Given the description of an element on the screen output the (x, y) to click on. 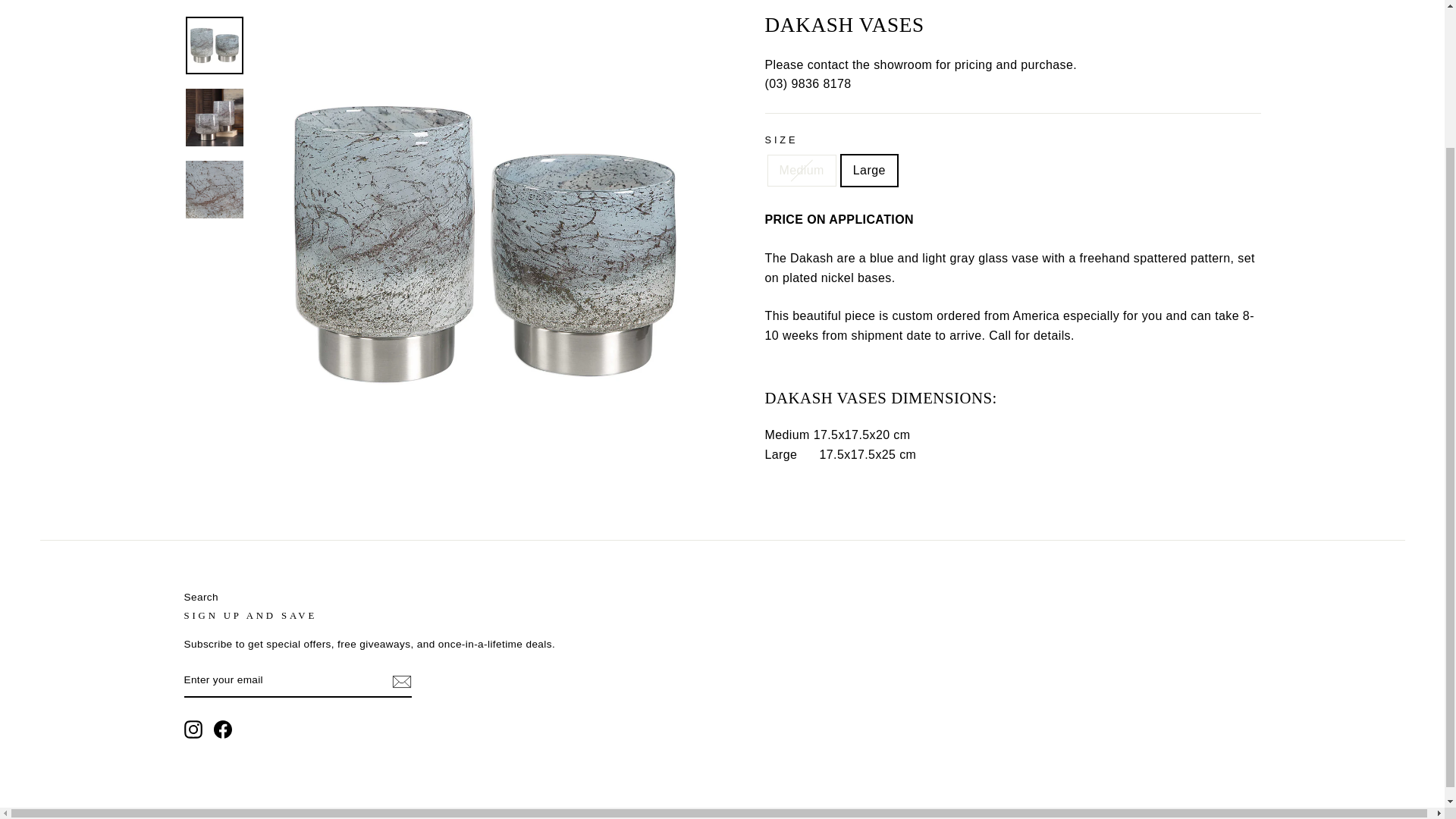
Yen Concept on Facebook (222, 729)
Yen Concept on Instagram (192, 729)
icon-email (400, 681)
instagram (192, 729)
